Given the description of an element on the screen output the (x, y) to click on. 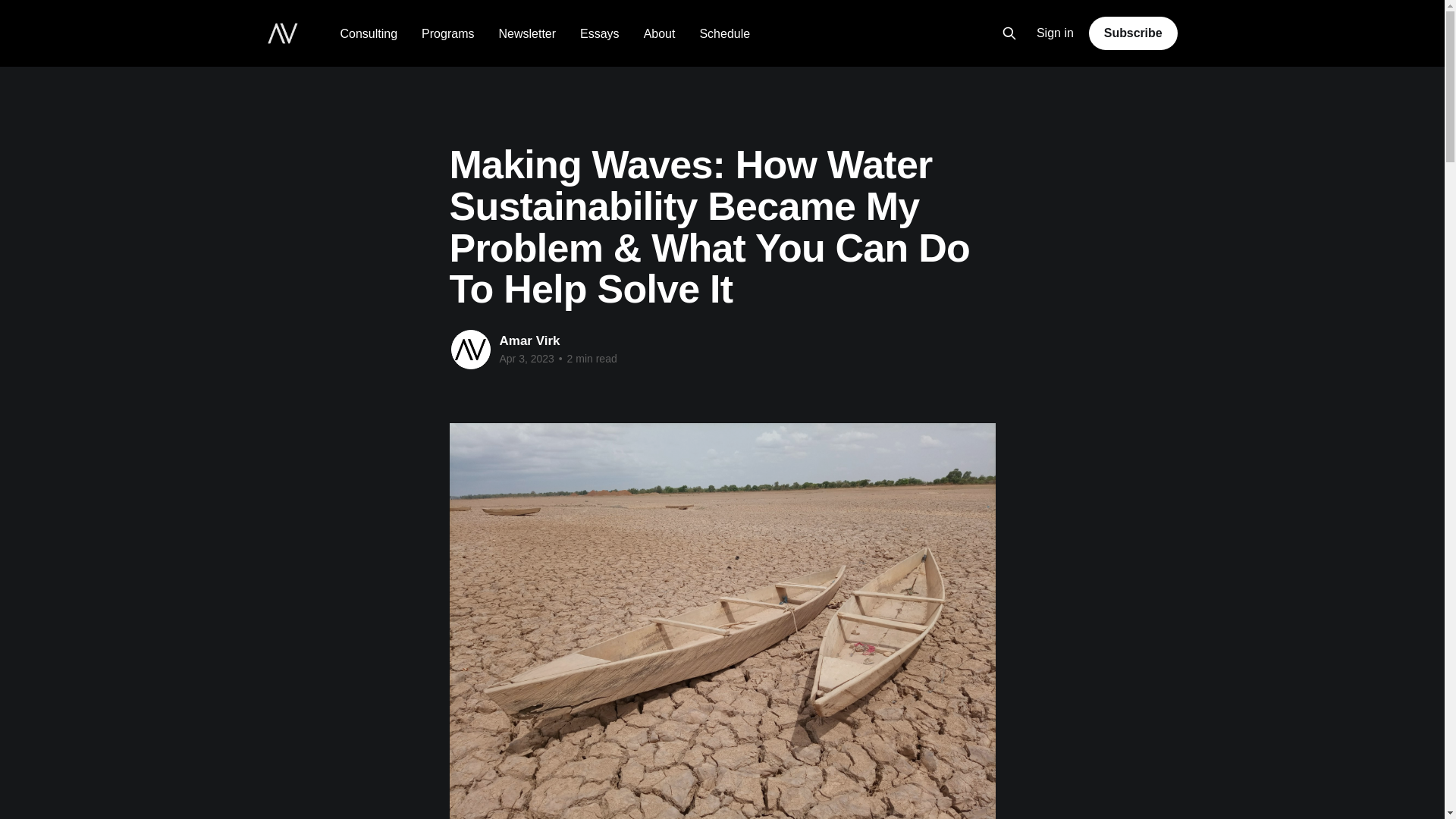
Programs (448, 33)
Newsletter (526, 33)
Schedule (723, 33)
Consulting (368, 33)
Essays (599, 33)
Sign in (1055, 33)
Subscribe (1133, 32)
Amar Virk (529, 340)
About (659, 33)
